Given the description of an element on the screen output the (x, y) to click on. 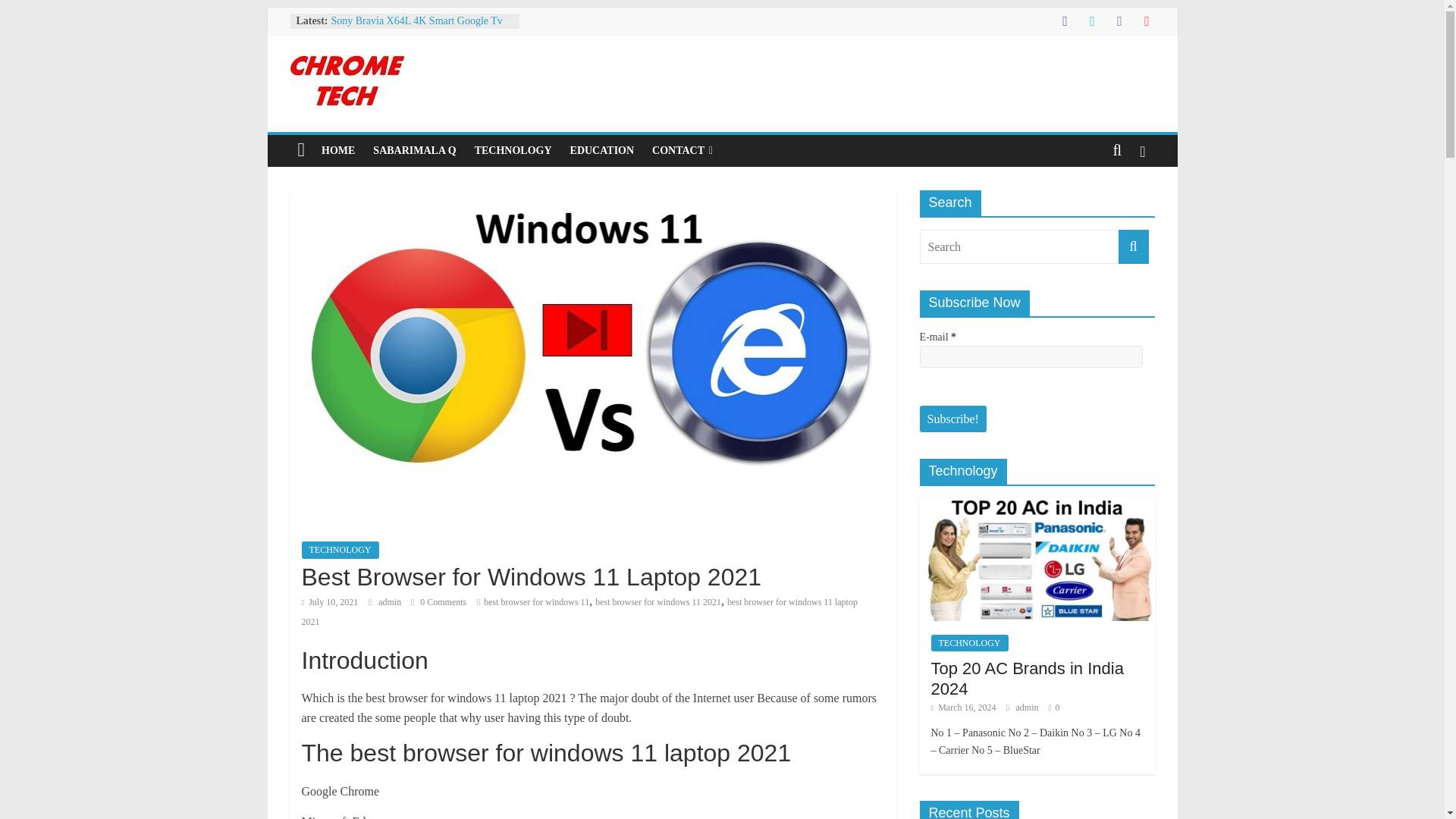
Subscribe! (951, 419)
TECHNOLOGY (339, 549)
0 Comments (437, 602)
Sony Bravia X64L 4K Smart Google Tv Review (416, 28)
admin (390, 602)
July 10, 2021 (329, 602)
TECHNOLOGY (512, 151)
EDUCATION (601, 151)
SABARIMALA Q (414, 151)
best browser for windows 11 2021 (657, 602)
best browser for windows 11 (536, 602)
admin (390, 602)
HOME (338, 151)
best browser for windows 11 laptop 2021 (579, 612)
Sony Bravia X64L 4K Smart Google Tv Review (416, 28)
